Given the description of an element on the screen output the (x, y) to click on. 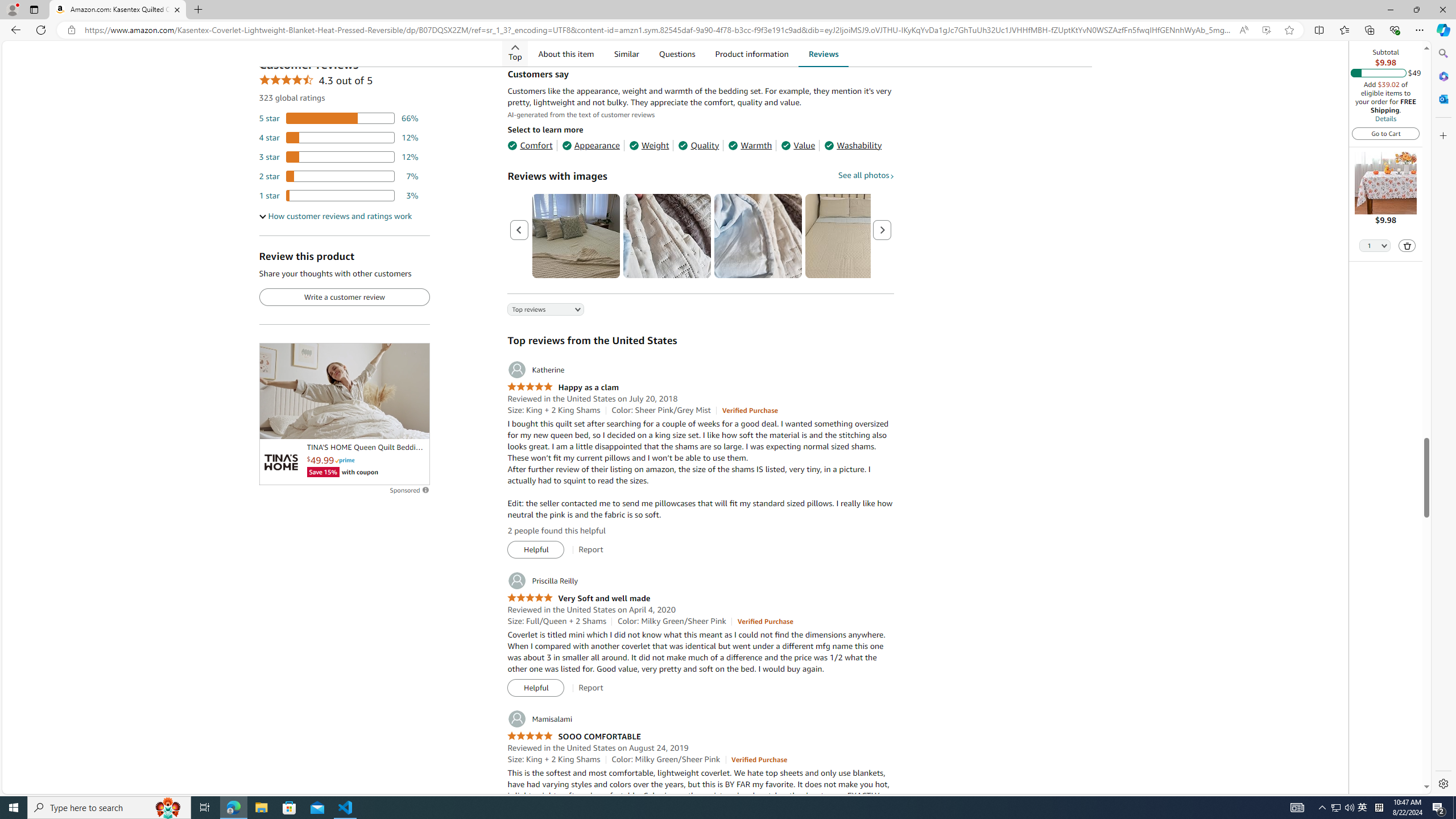
Reviews (822, 53)
Verified Purchase (758, 759)
5.0 out of 5 stars Happy as a clam (562, 387)
AutomationID: cm-cr-sort-dropdown (536, 310)
Quality (698, 145)
Unmute (414, 425)
